Given the description of an element on the screen output the (x, y) to click on. 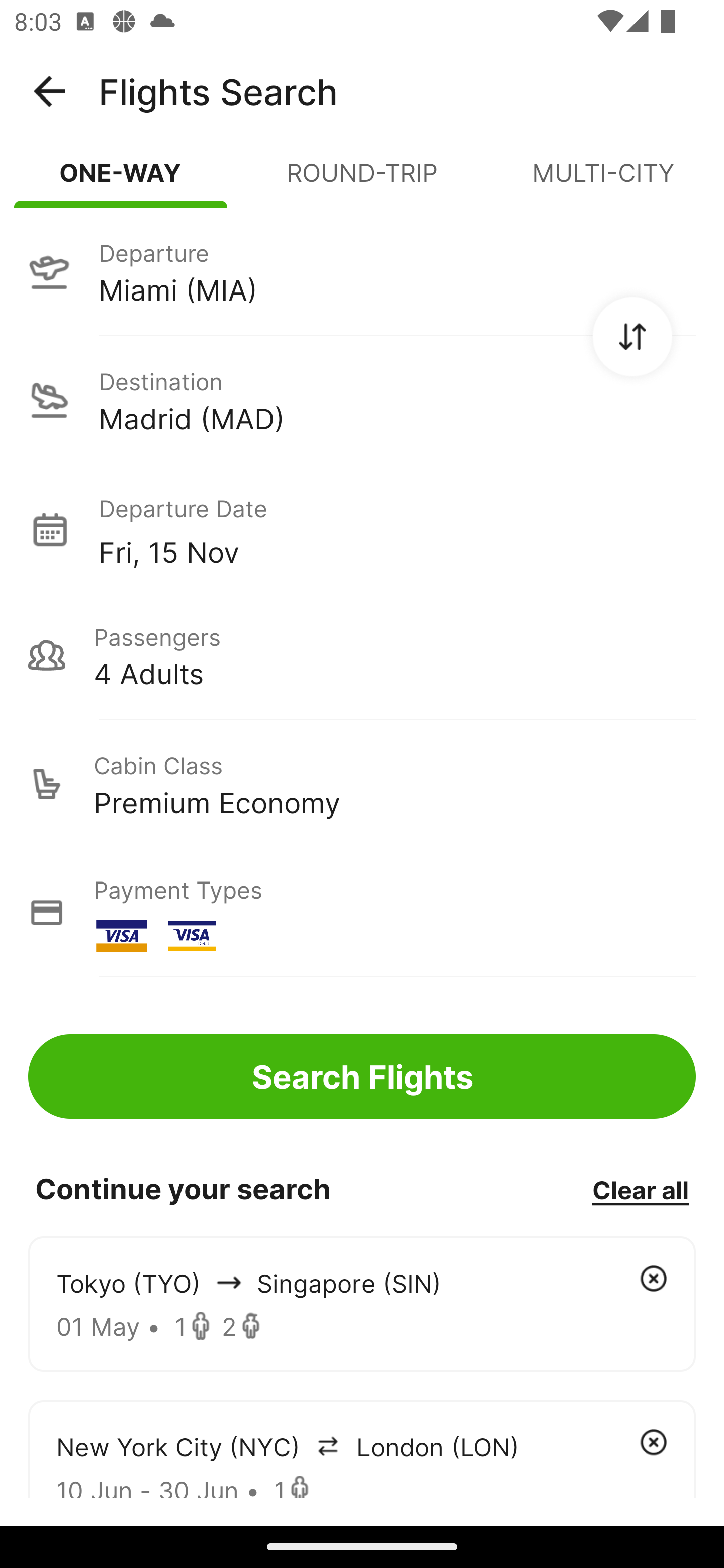
ONE-WAY (120, 180)
ROUND-TRIP (361, 180)
MULTI-CITY (603, 180)
Departure Miami (MIA) (362, 270)
Destination Madrid (MAD) (362, 400)
Departure Date Fri, 15 Nov (396, 528)
Passengers 4 Adults (362, 655)
Cabin Class Premium Economy (362, 783)
Payment Types (362, 912)
Search Flights (361, 1075)
Clear all (640, 1189)
